Given the description of an element on the screen output the (x, y) to click on. 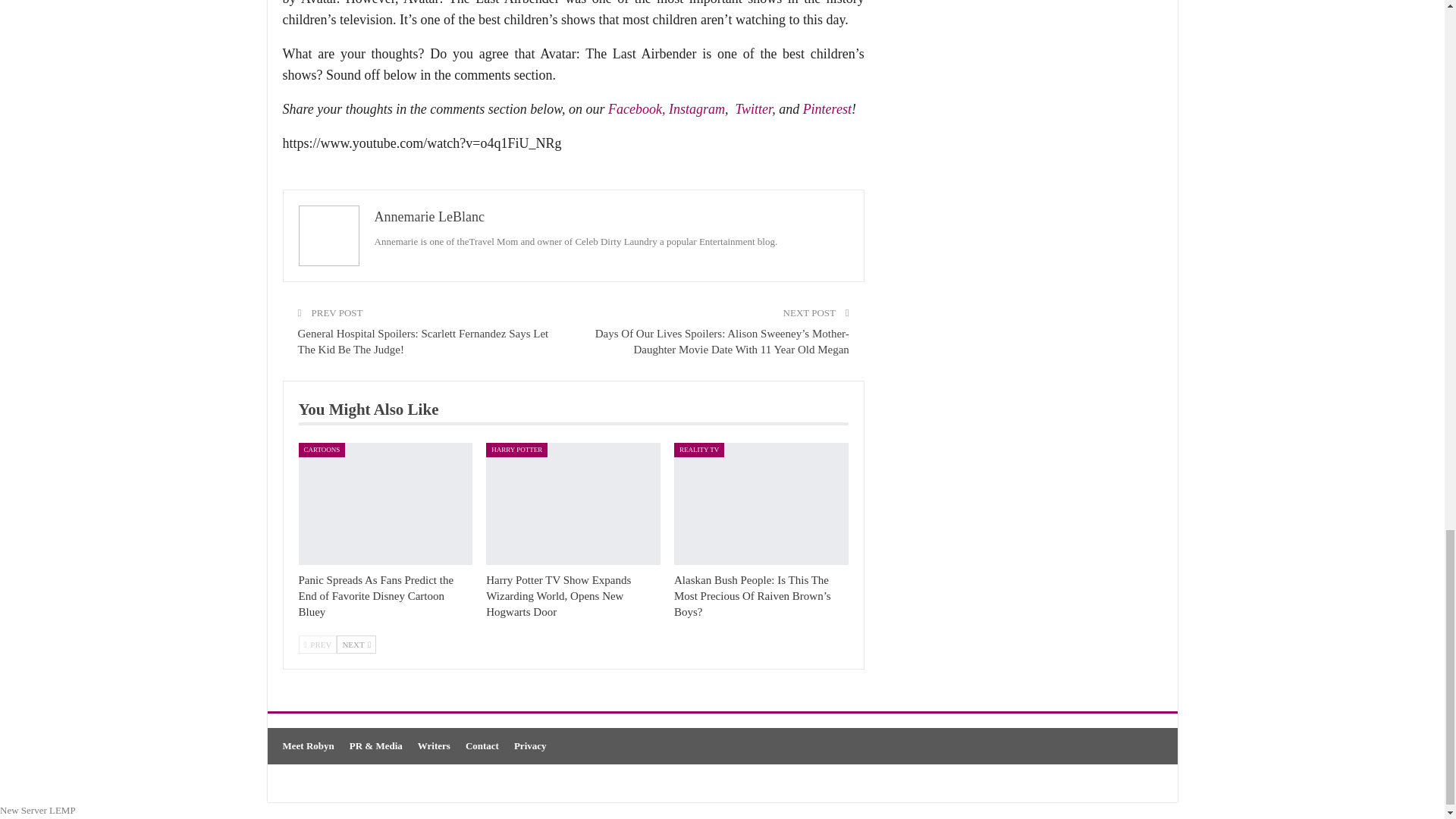
Previous (317, 644)
Next (355, 644)
